Given the description of an element on the screen output the (x, y) to click on. 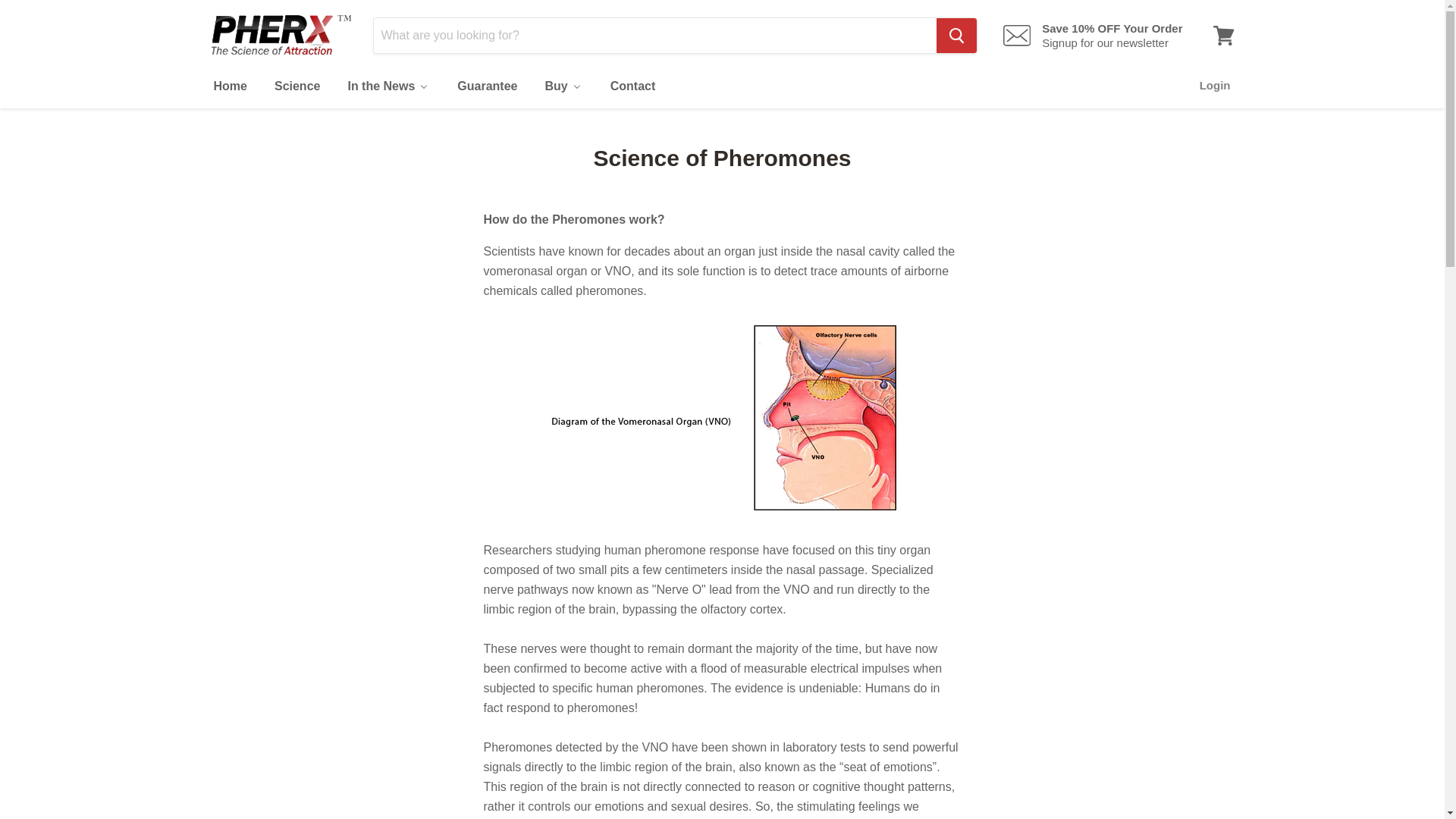
Guarantee (485, 85)
Buy (562, 85)
View cart (1223, 35)
In the News (387, 85)
Home (228, 85)
Science (296, 85)
